Given the description of an element on the screen output the (x, y) to click on. 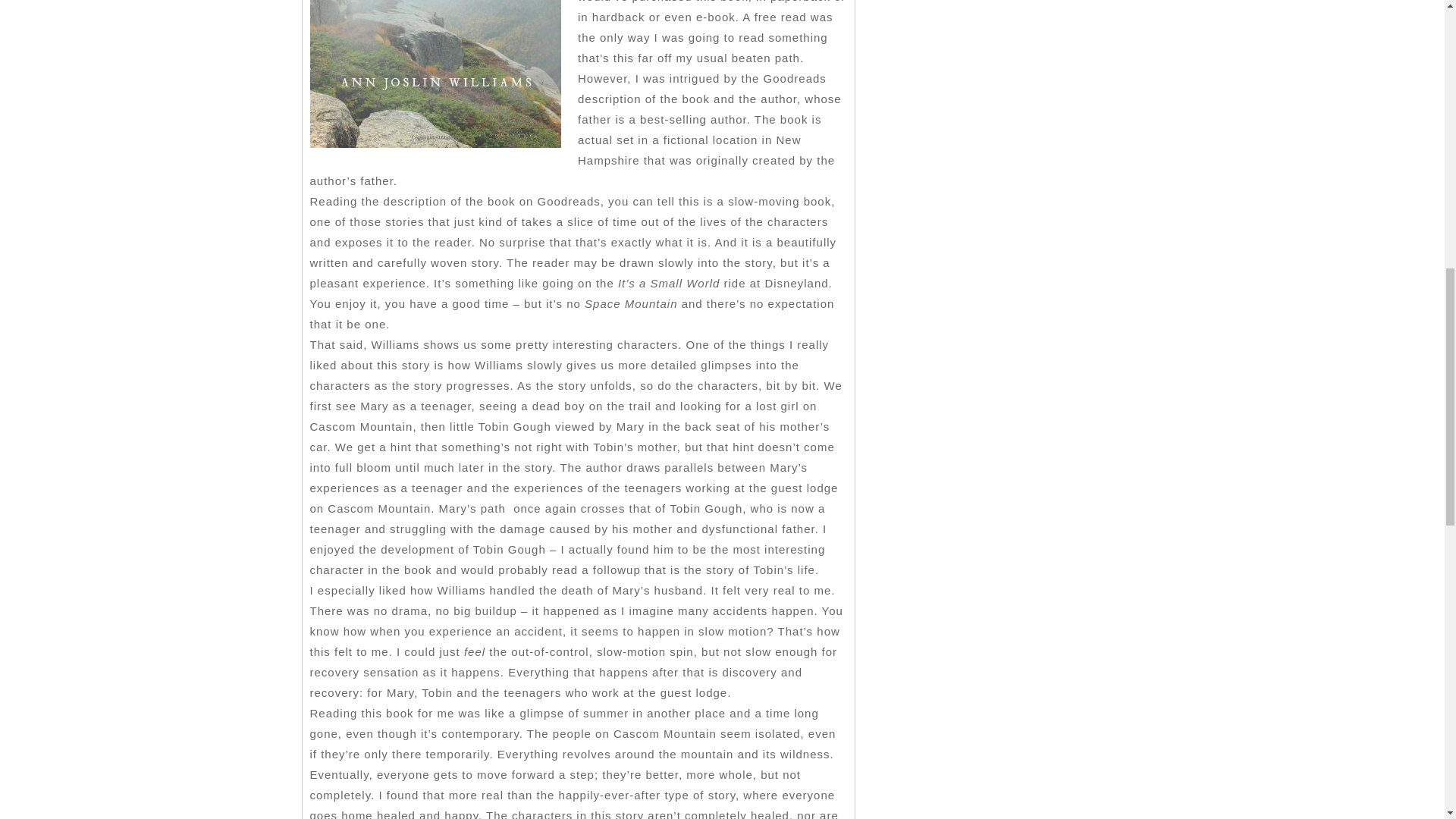
Down from Cascom Mountain (434, 77)
